Given the description of an element on the screen output the (x, y) to click on. 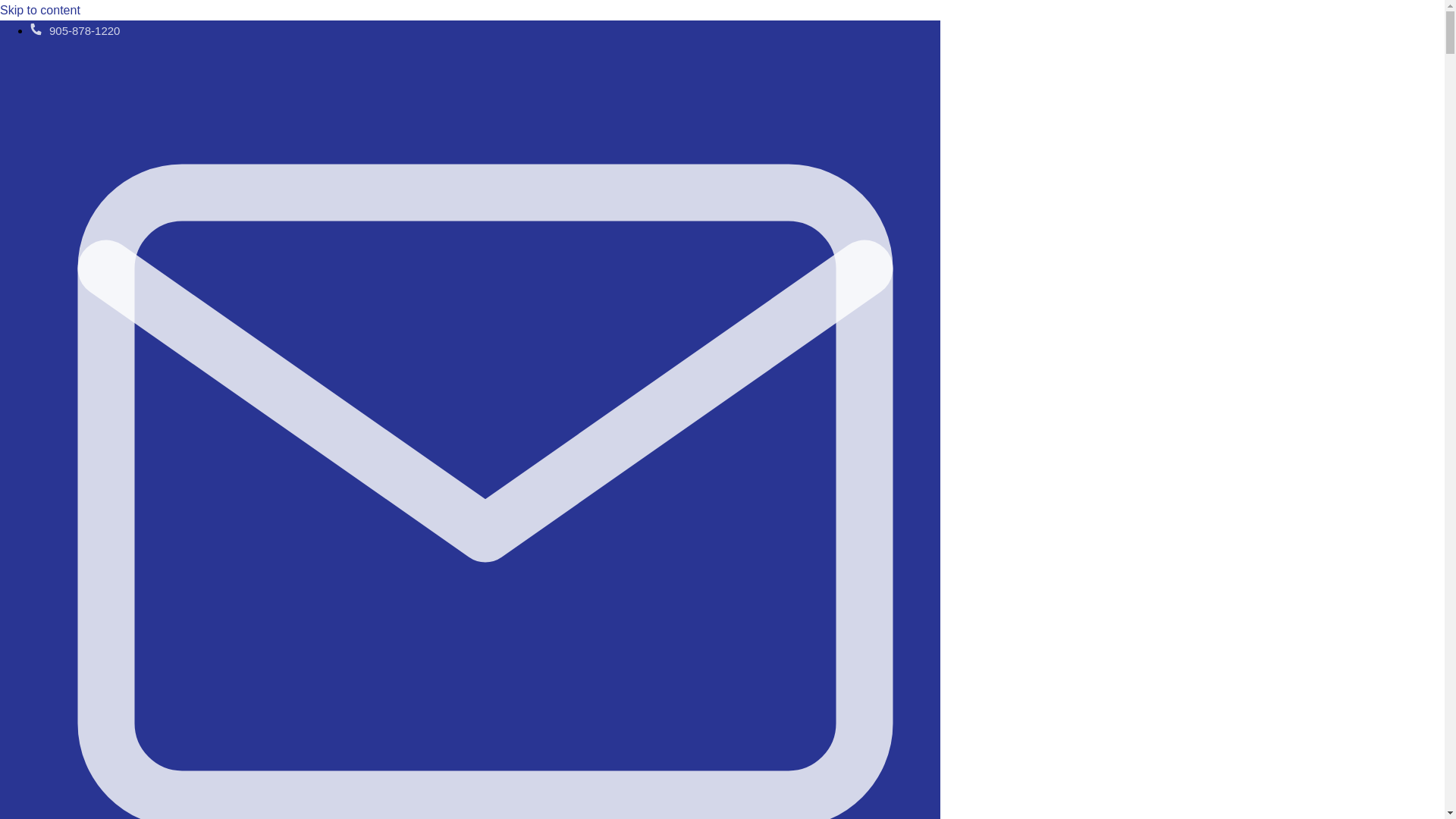
905-878-1220 (74, 30)
Skip to content (40, 10)
Skip to content (40, 10)
